Given the description of an element on the screen output the (x, y) to click on. 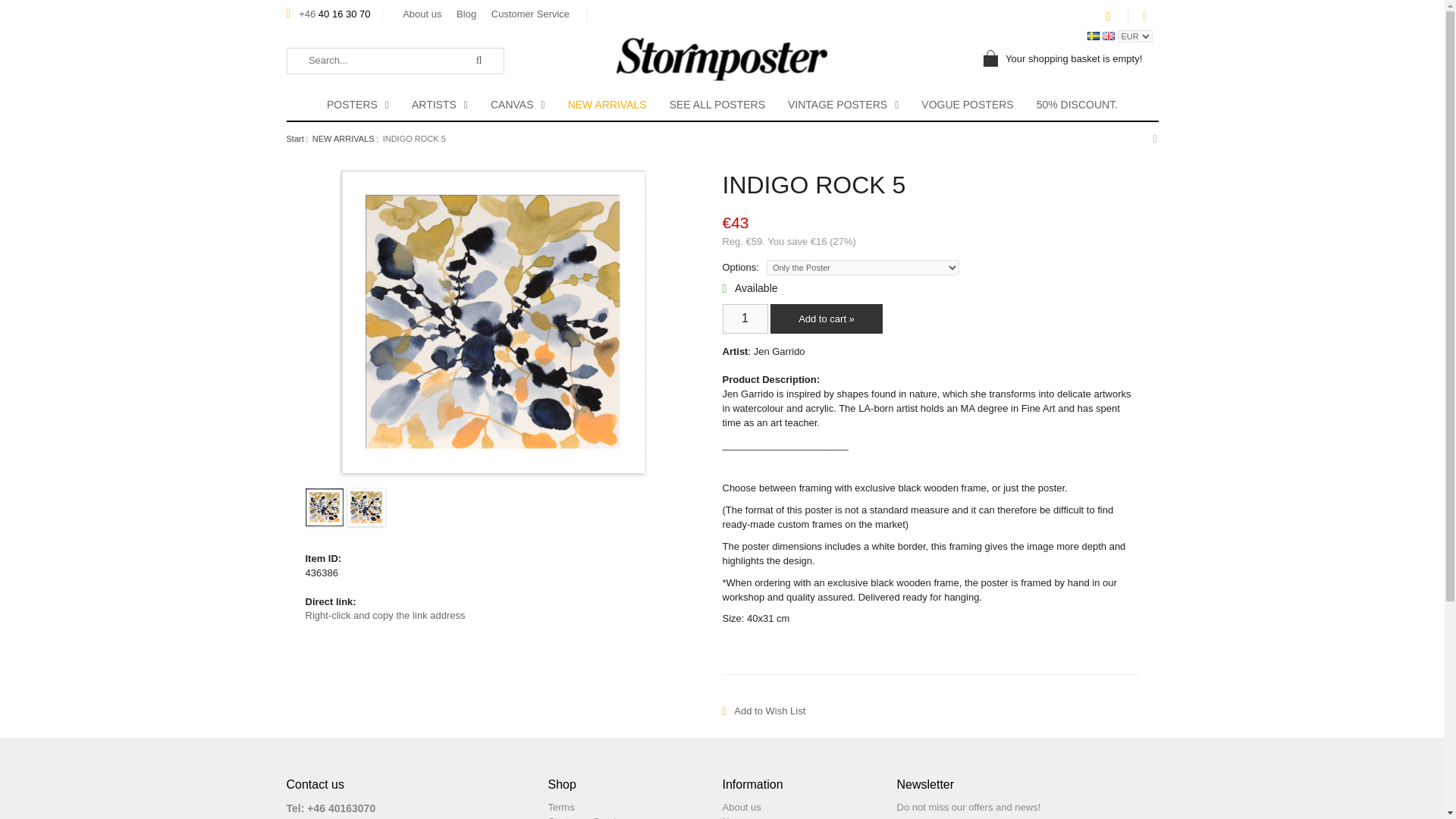
POSTERS (357, 104)
Blog (465, 13)
1 (744, 318)
English (1110, 34)
About us (421, 13)
Customer Service (529, 13)
Quantity (744, 318)
Enlarge (492, 320)
NEW ARRIVALS (343, 139)
Svenska (1094, 34)
ARTISTS (439, 104)
